Given the description of an element on the screen output the (x, y) to click on. 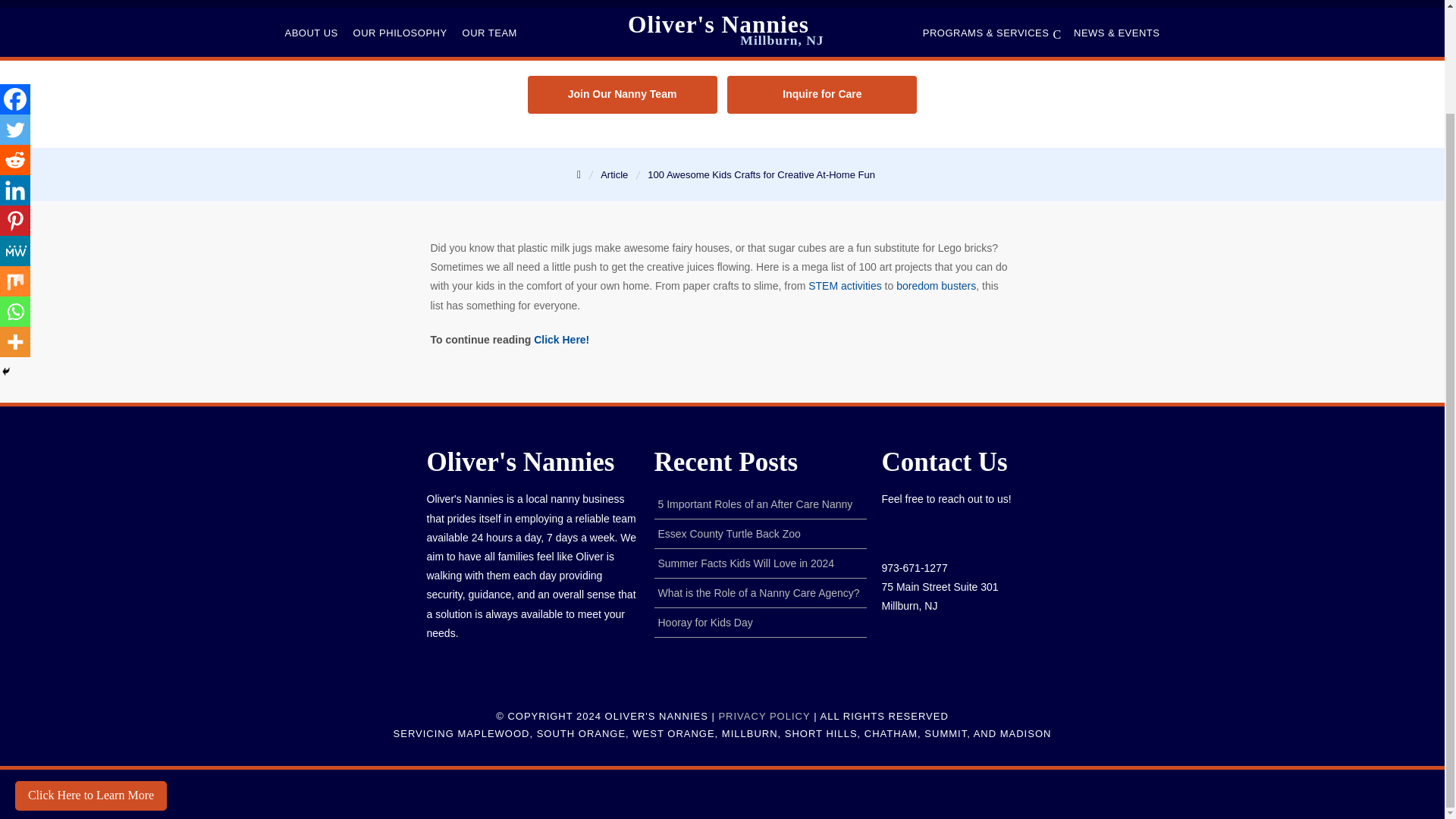
5 Important Roles of an After Care Nanny (755, 503)
Click Here to Learn More (90, 674)
Summer Facts Kids Will Love in 2024 (746, 563)
Pinterest (15, 100)
Article (615, 174)
Click Here! (561, 339)
Essex County Turtle Back Zoo (729, 533)
Reddit (15, 39)
What is the Role of a Nanny Care Agency? (759, 592)
More (15, 221)
